Given the description of an element on the screen output the (x, y) to click on. 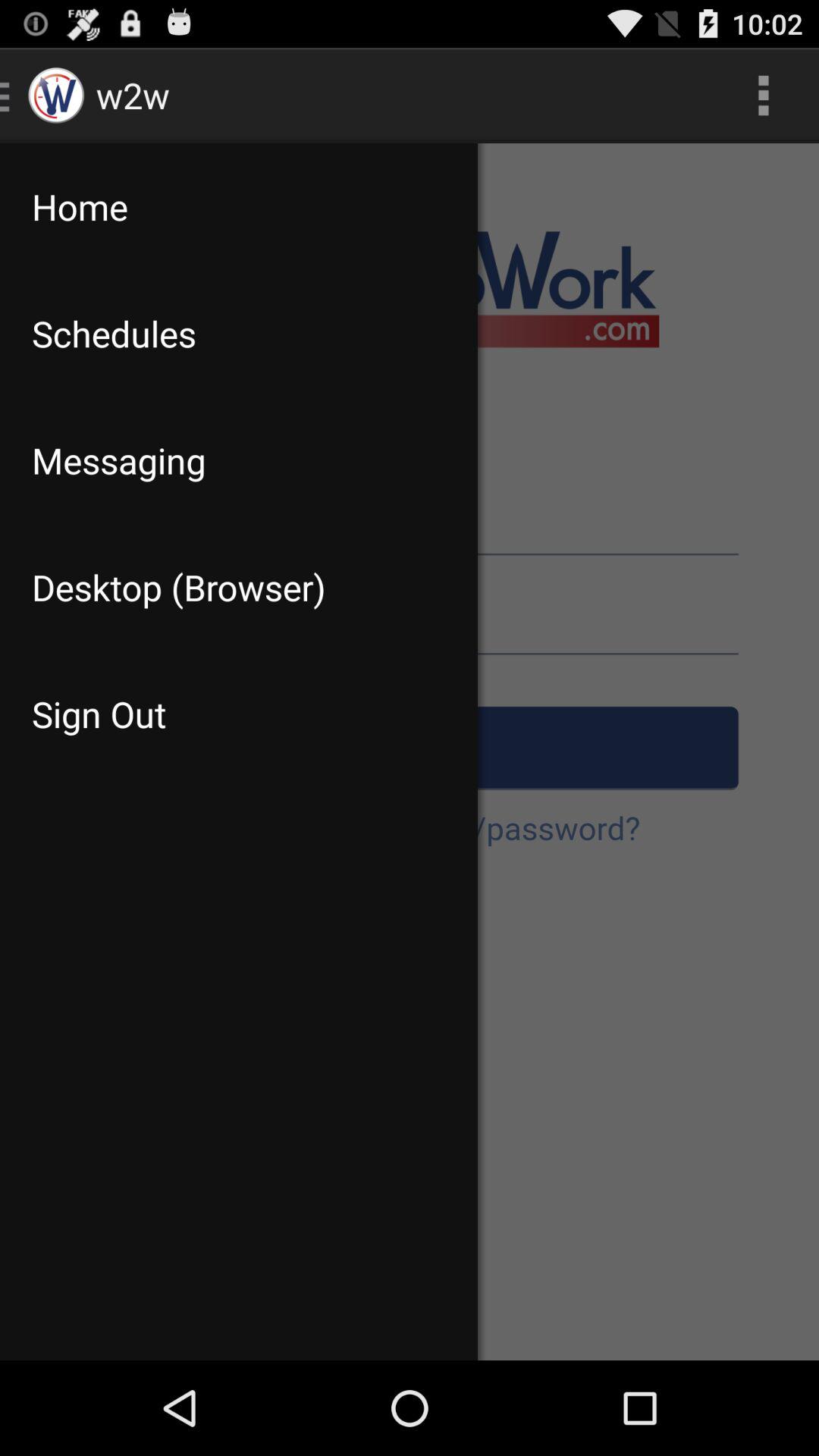
open the desktop (browser) item (238, 587)
